Given the description of an element on the screen output the (x, y) to click on. 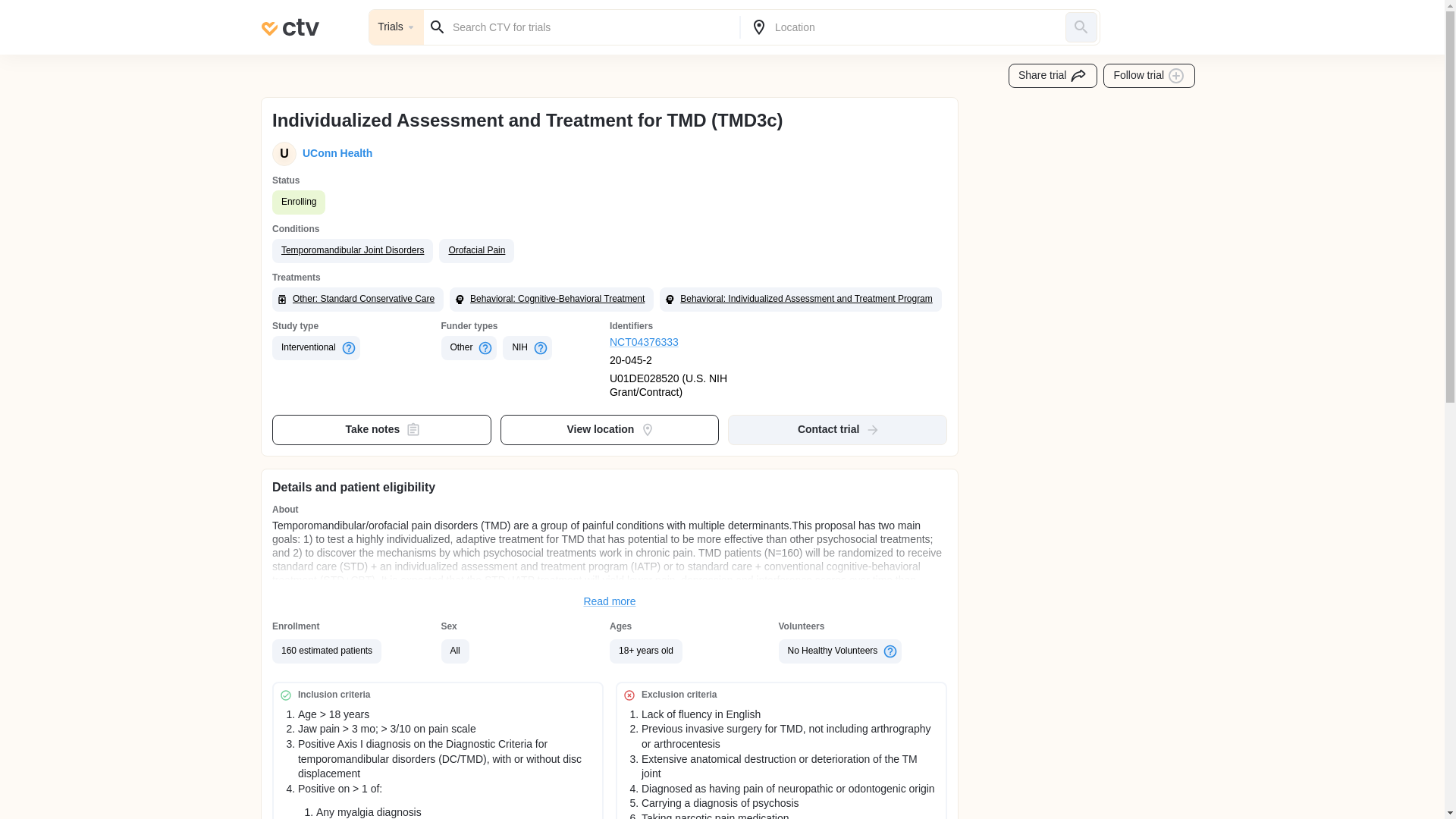
Follow trial (1149, 75)
Read more (609, 602)
View location (609, 429)
NCT04376333 (694, 342)
Contact trial (837, 429)
Take notes (382, 429)
UConn Health (334, 153)
Share trial (1053, 75)
Trials (396, 27)
